Given the description of an element on the screen output the (x, y) to click on. 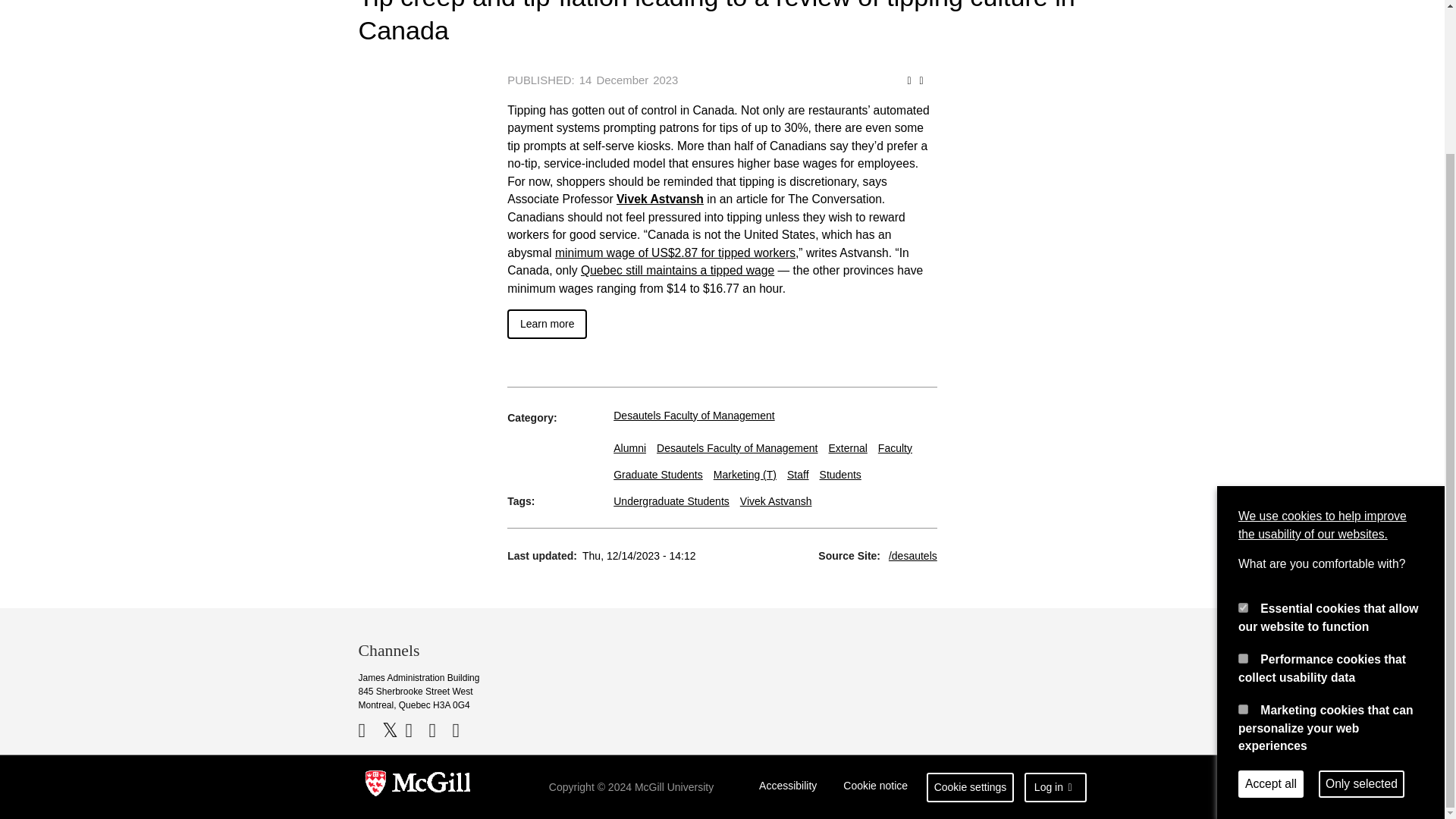
Instagram (461, 730)
LinkedIn (439, 730)
Desautels Faculty of Management (693, 414)
Follow us on Instagram (461, 730)
Follow us on YouTube (414, 730)
Cookie notice (875, 787)
Accessibility (788, 787)
Follow us on Facebook (368, 730)
X (392, 730)
Log in (1055, 787)
